Given the description of an element on the screen output the (x, y) to click on. 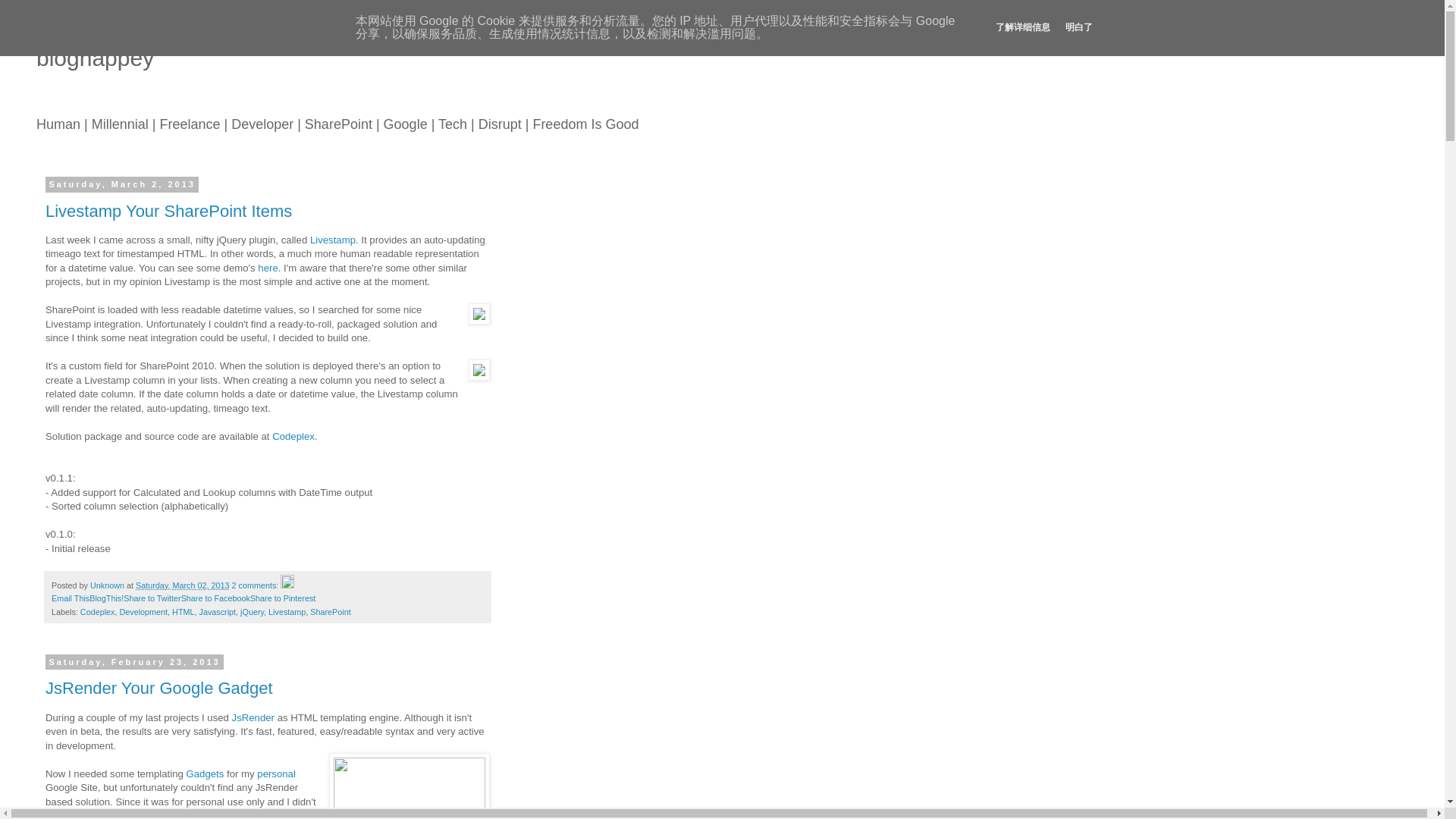
Codeplex (293, 436)
Email This (69, 597)
personal (276, 773)
Codeplex (97, 611)
Edit Post (287, 584)
Development (143, 611)
Share to Pinterest (282, 597)
Email This (69, 597)
Share to Facebook (215, 597)
BlogThis! (105, 597)
Livestamp (286, 611)
Share to Twitter (151, 597)
Livestamp Your SharePoint Items (168, 210)
Share to Pinterest (282, 597)
BlogThis! (105, 597)
